Given the description of an element on the screen output the (x, y) to click on. 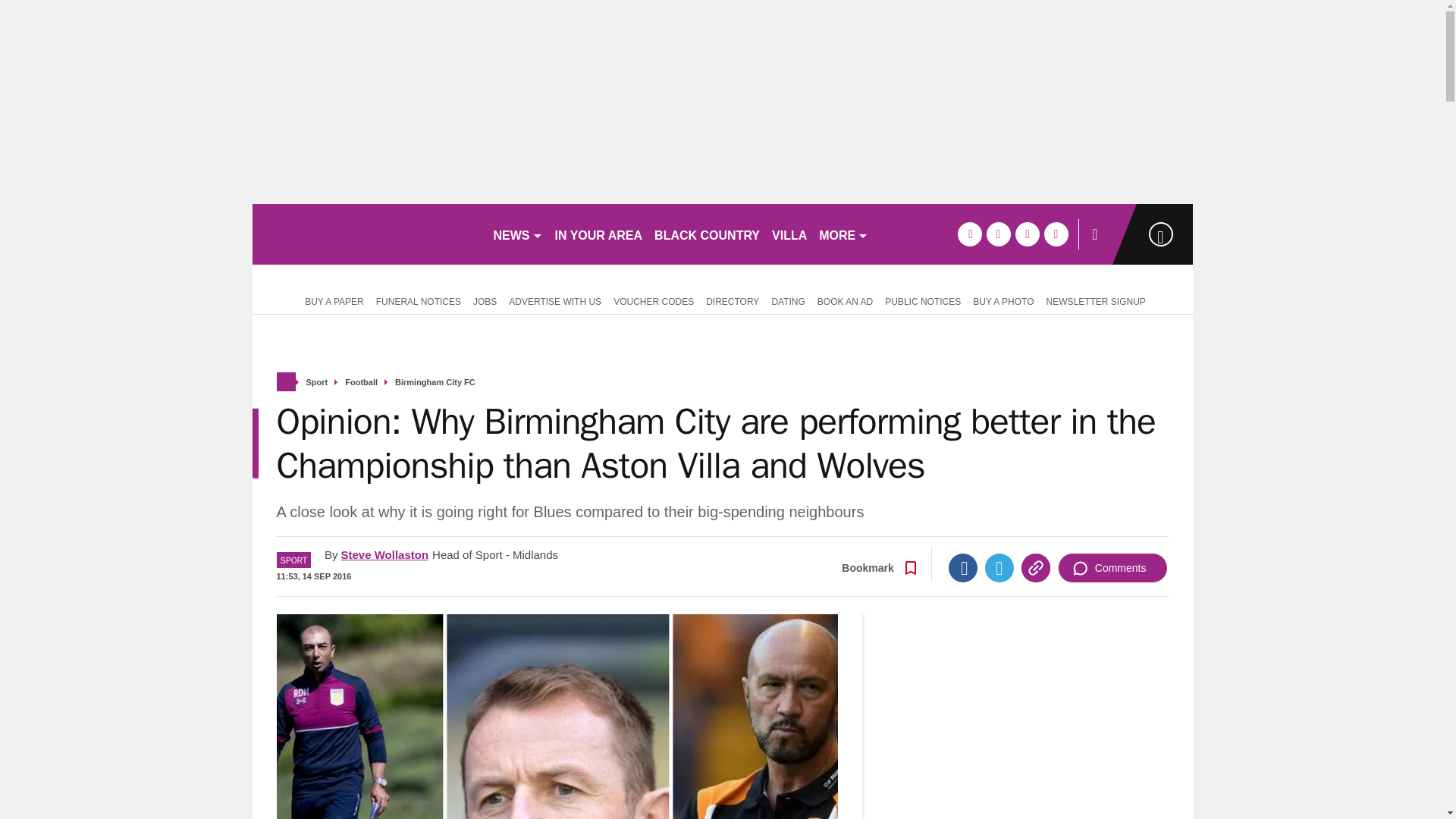
tiktok (1026, 233)
Twitter (999, 567)
Comments (1112, 567)
IN YOUR AREA (598, 233)
BLACK COUNTRY (706, 233)
NEWS (517, 233)
instagram (1055, 233)
MORE (843, 233)
Facebook (962, 567)
facebook (968, 233)
birminghammail (365, 233)
twitter (997, 233)
